Given the description of an element on the screen output the (x, y) to click on. 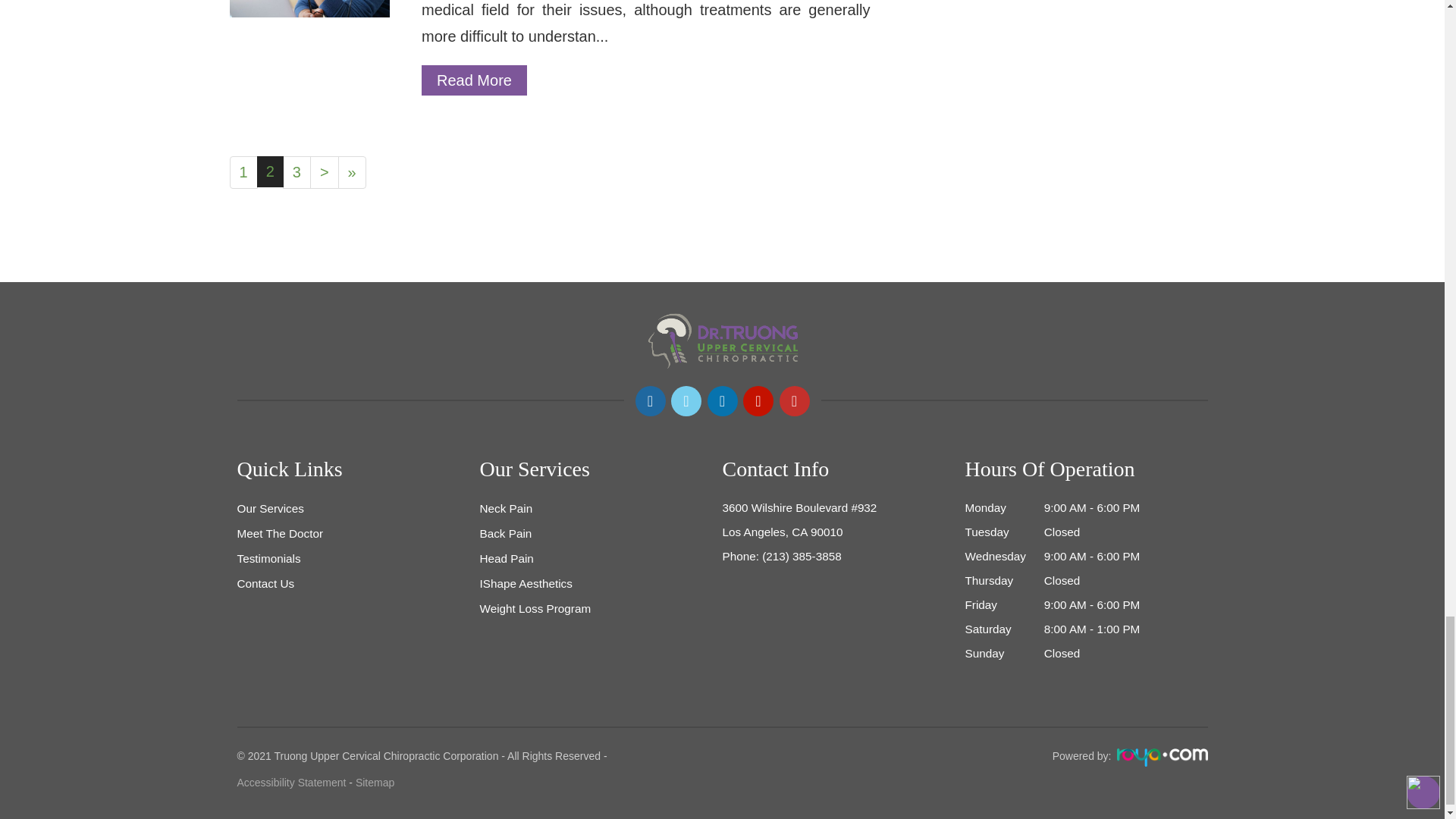
Roya (1161, 756)
